Given the description of an element on the screen output the (x, y) to click on. 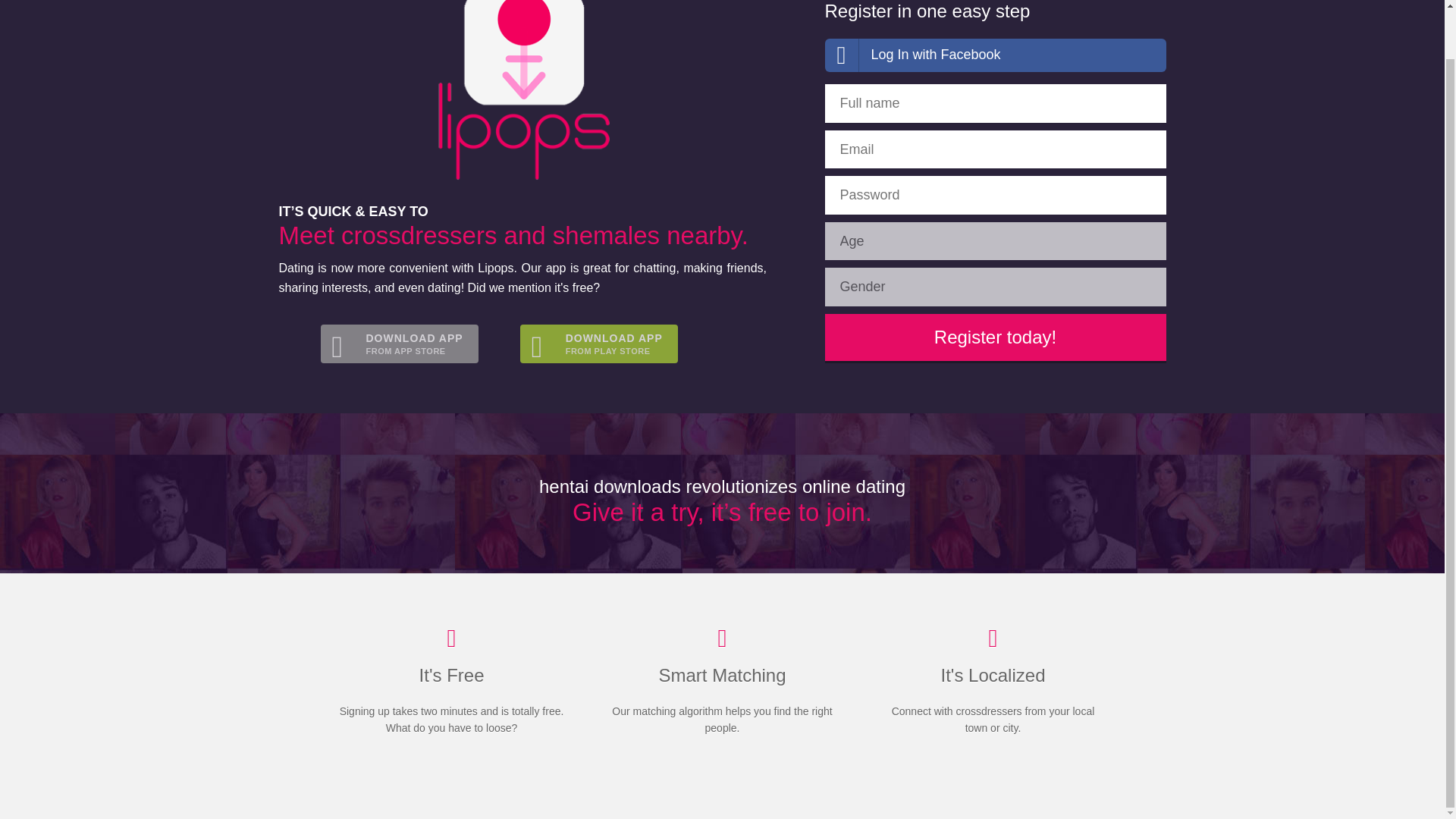
Log In with Facebook (398, 343)
Register today! (995, 55)
